Given the description of an element on the screen output the (x, y) to click on. 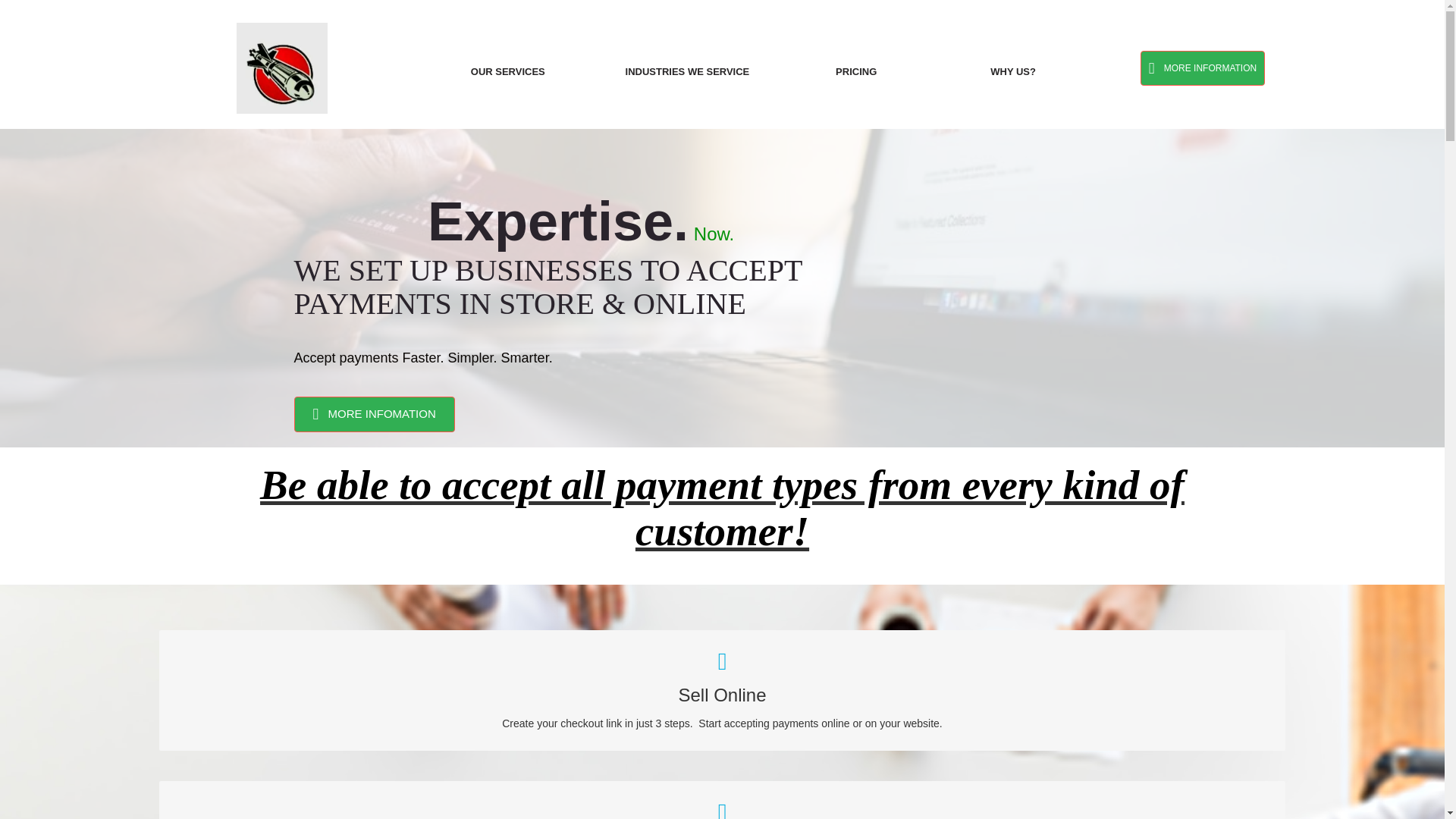
jugglogo (281, 67)
MORE INFOMATION (374, 414)
WHY US? (1012, 71)
OUR SERVICES (507, 71)
WHY US? (1012, 71)
INDUSTRIES WE SERVICE (687, 71)
PRICING (855, 71)
OUR SERVICES (507, 71)
INDUSTRIES WE SERVICE (687, 71)
PRICING (855, 71)
